Given the description of an element on the screen output the (x, y) to click on. 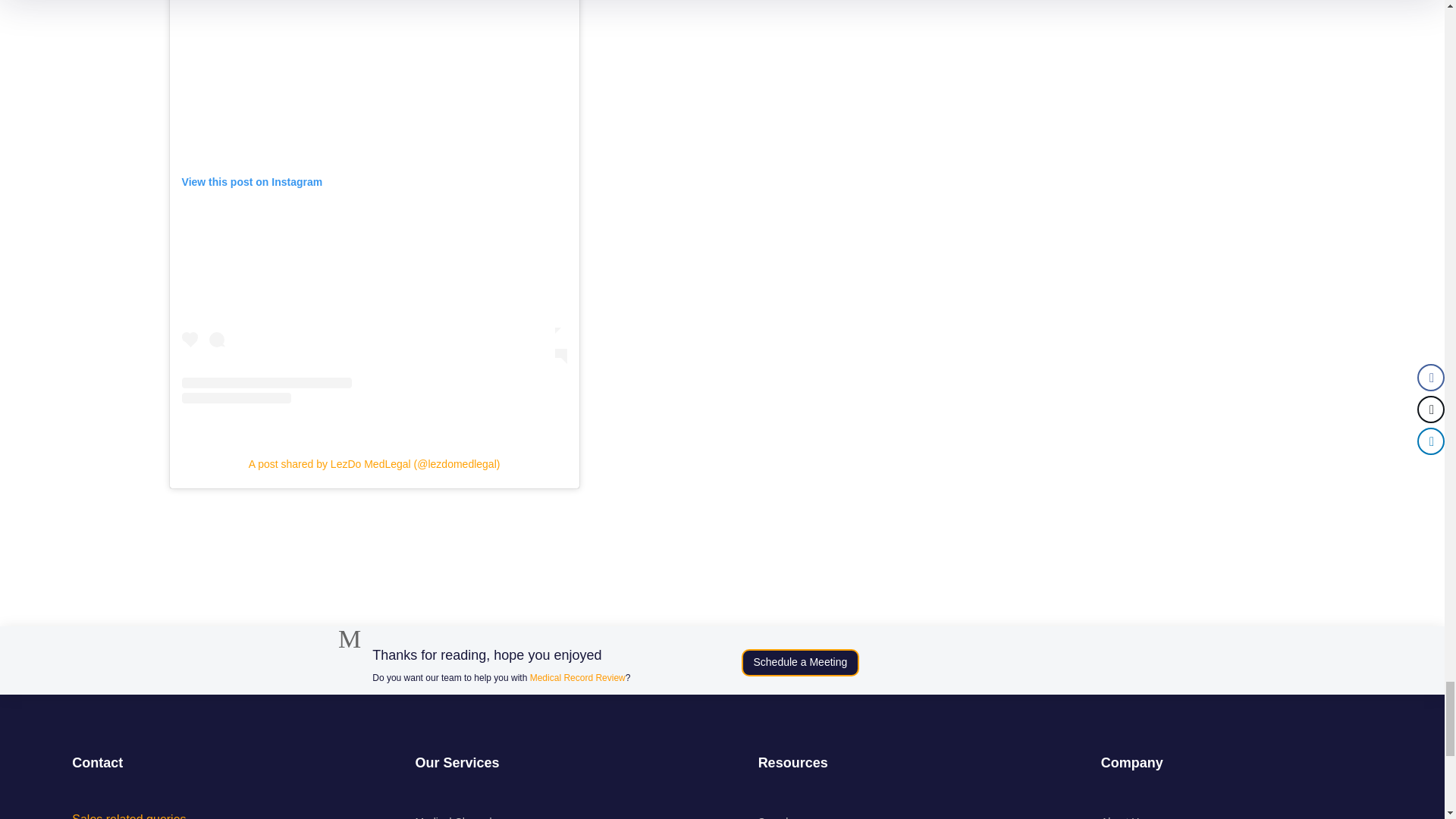
young-female-doctor-with-crossed-arms-white-uniform (266, 670)
